Given the description of an element on the screen output the (x, y) to click on. 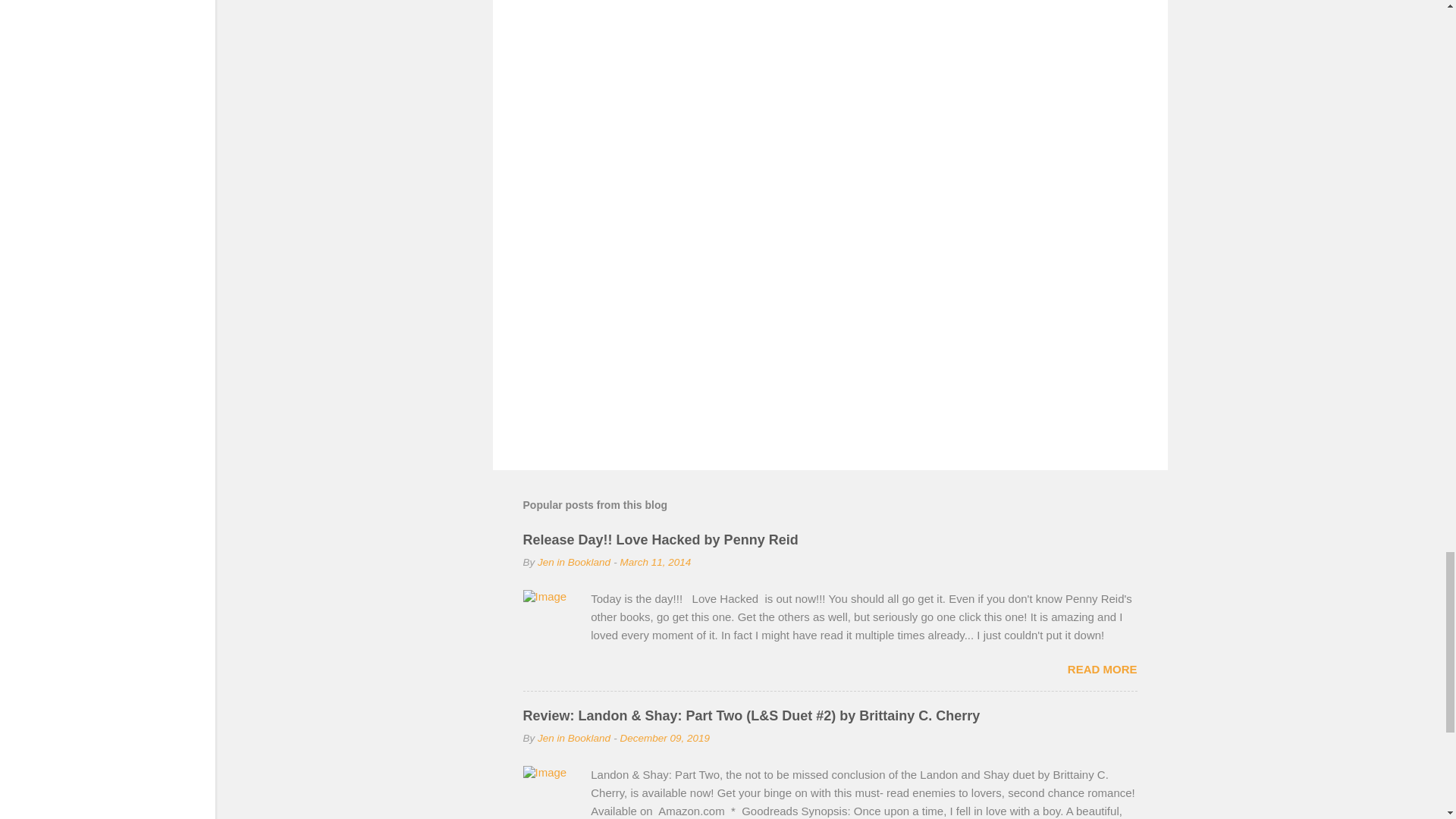
Advertisement (829, 328)
READ MORE (1102, 668)
Jen in Bookland (573, 737)
December 09, 2019 (665, 737)
Jen in Bookland (573, 562)
Release Day!! Love Hacked by Penny Reid (659, 539)
March 11, 2014 (655, 562)
